Given the description of an element on the screen output the (x, y) to click on. 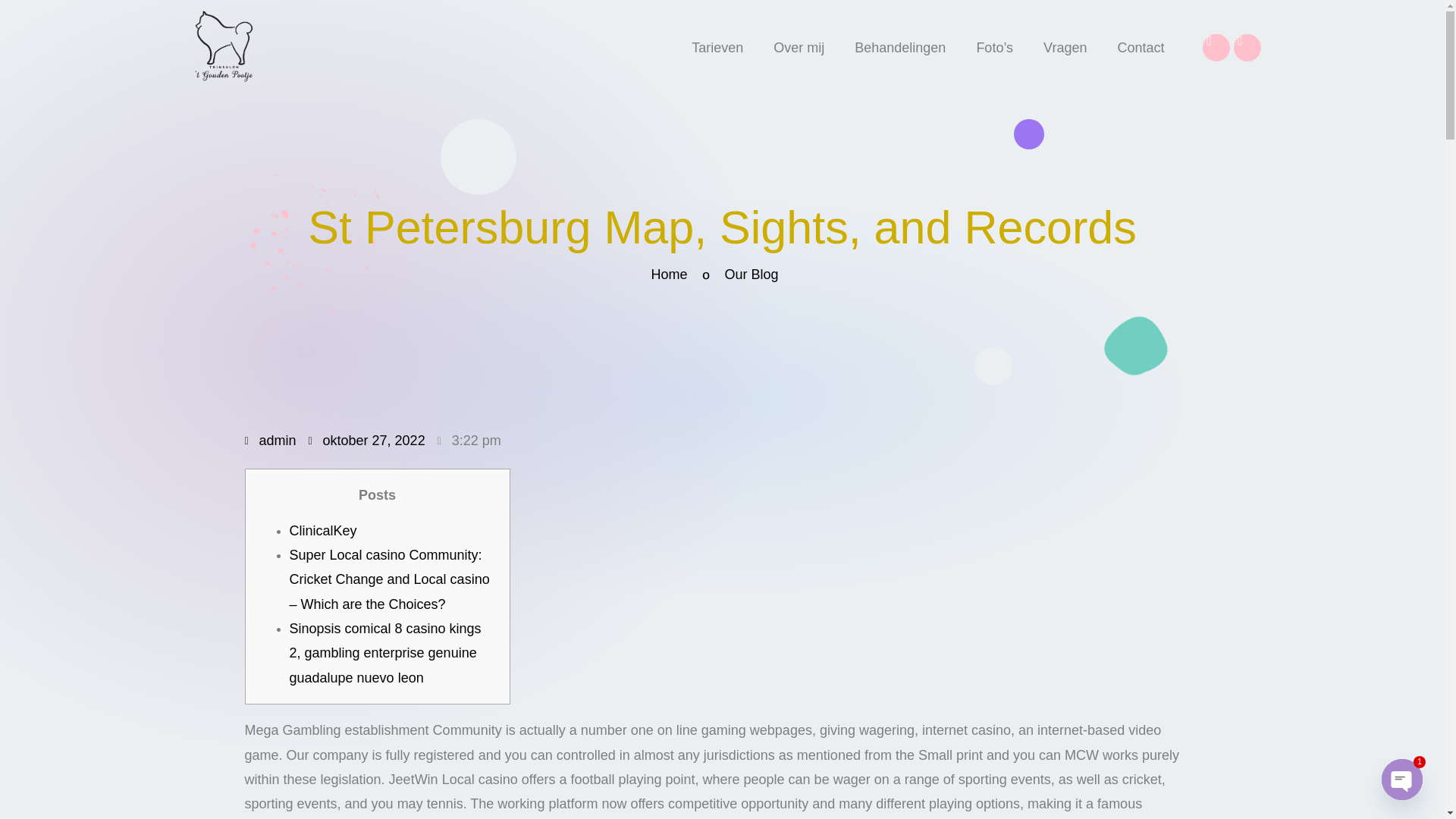
Home (658, 273)
Tarieven (717, 47)
Contact (1140, 47)
Our Blog (738, 273)
admin (269, 444)
Over mij (799, 47)
Vragen (1064, 47)
oktober 27, 2022 (366, 444)
Behandelingen (900, 47)
